Given the description of an element on the screen output the (x, y) to click on. 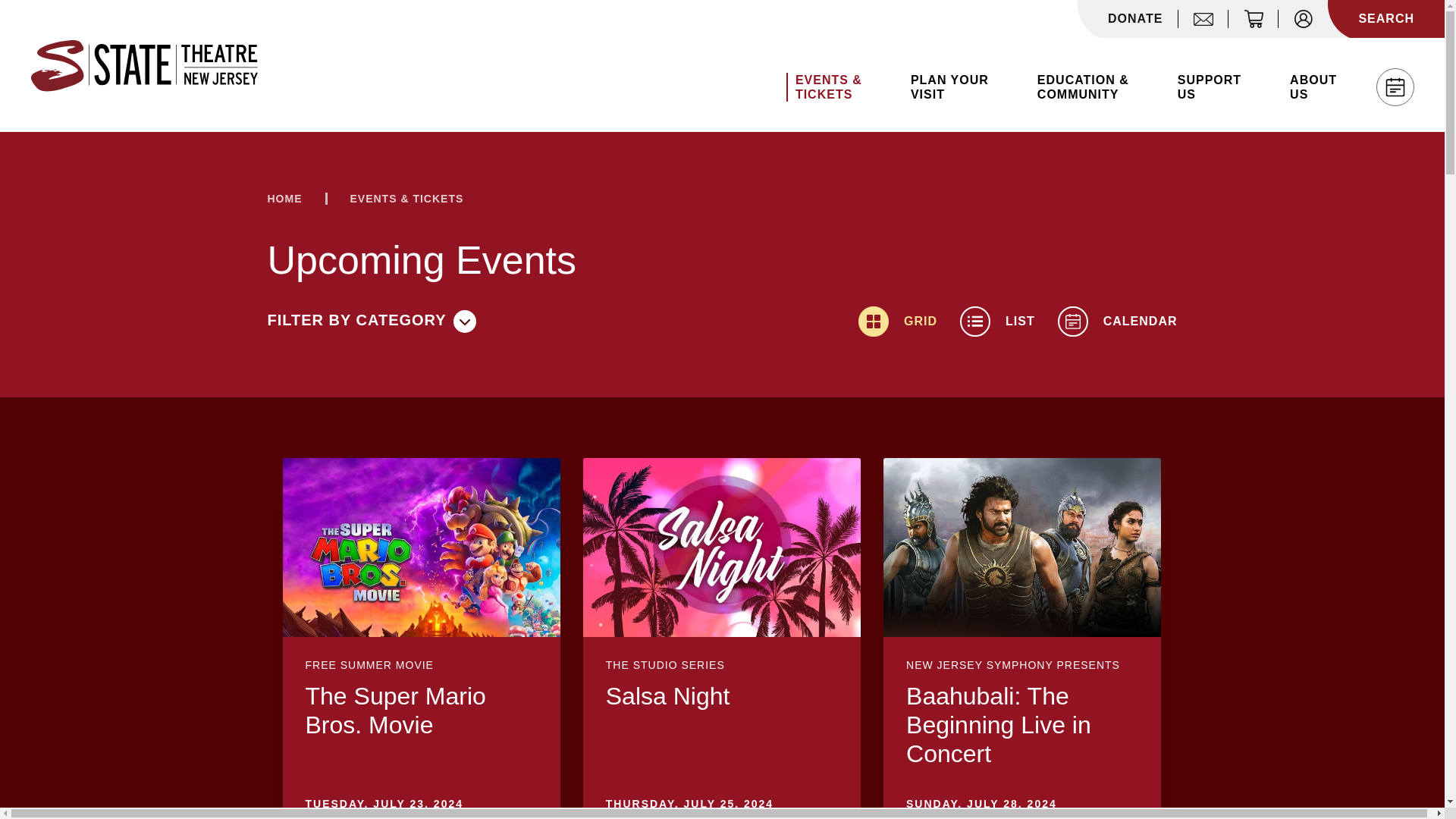
More Info for The Super Mario Bros. Movie (420, 547)
More Info (1021, 724)
DONATE (1135, 19)
More Info (721, 695)
State Theatre New Jersey (143, 65)
ACCOUNT (1302, 18)
More Info for Salsa Night (721, 547)
More Info (420, 710)
SEARCH (1385, 18)
More Info for Baahubali: The Beginning Live in Concert (1021, 547)
State Theatre New Jersey (143, 65)
MAIL (1202, 18)
CART (1252, 18)
